Given the description of an element on the screen output the (x, y) to click on. 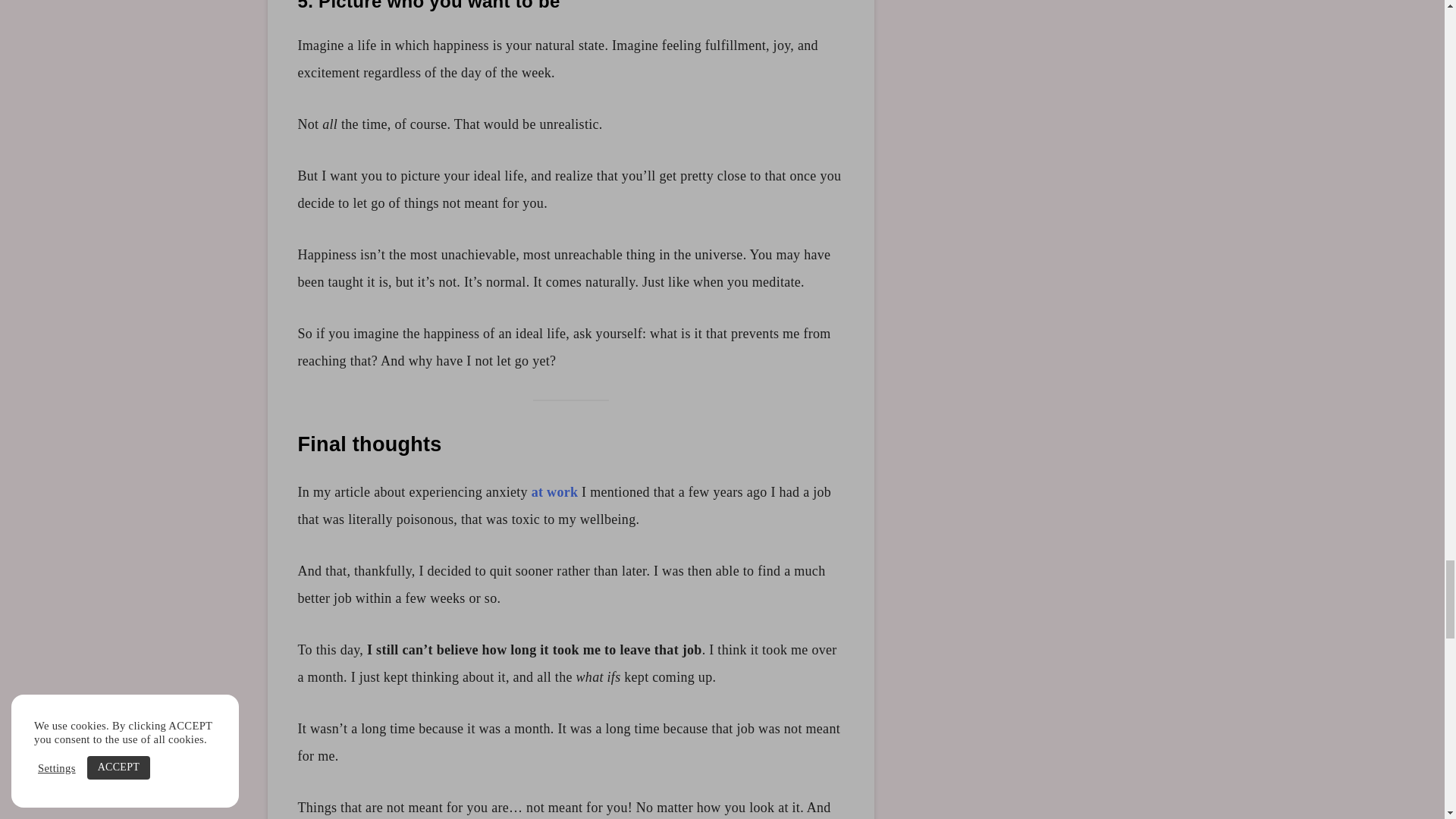
at work (554, 491)
